Given the description of an element on the screen output the (x, y) to click on. 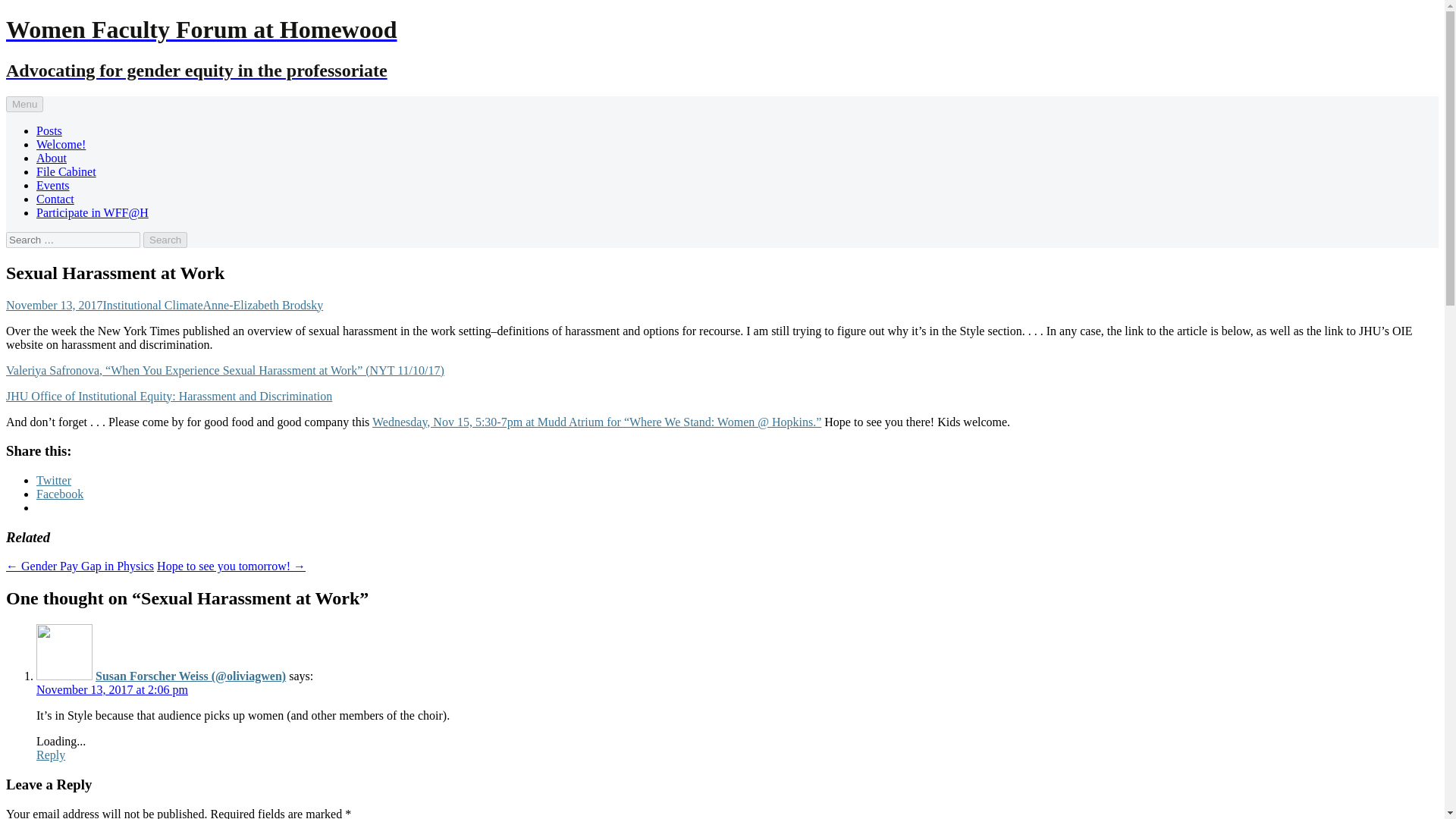
Click to share on Twitter (53, 480)
Contact (55, 198)
Posts (49, 130)
Events (52, 185)
File Cabinet (66, 171)
Welcome! (60, 144)
Twitter (53, 480)
Menu (24, 104)
Search (164, 239)
Search (164, 239)
